Given the description of an element on the screen output the (x, y) to click on. 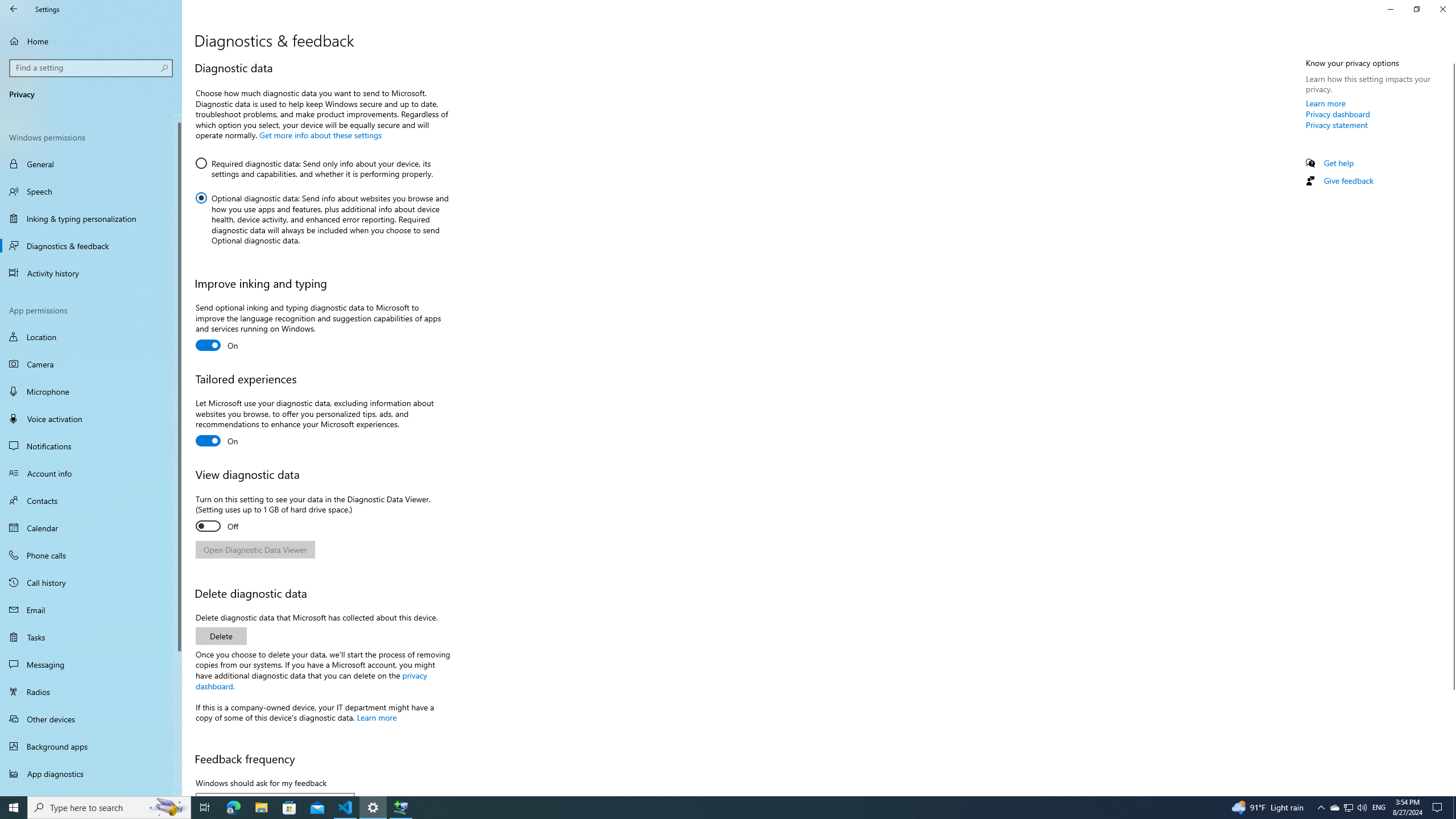
Microsoft Edge (233, 807)
Background apps (91, 746)
Running applications (706, 807)
Open Diagnostic Data Viewer (254, 549)
Voice activation (91, 418)
User Promoted Notification Area (1347, 807)
Get help (1338, 162)
Windows should ask for my feedback (275, 794)
Tasks (91, 636)
